Given the description of an element on the screen output the (x, y) to click on. 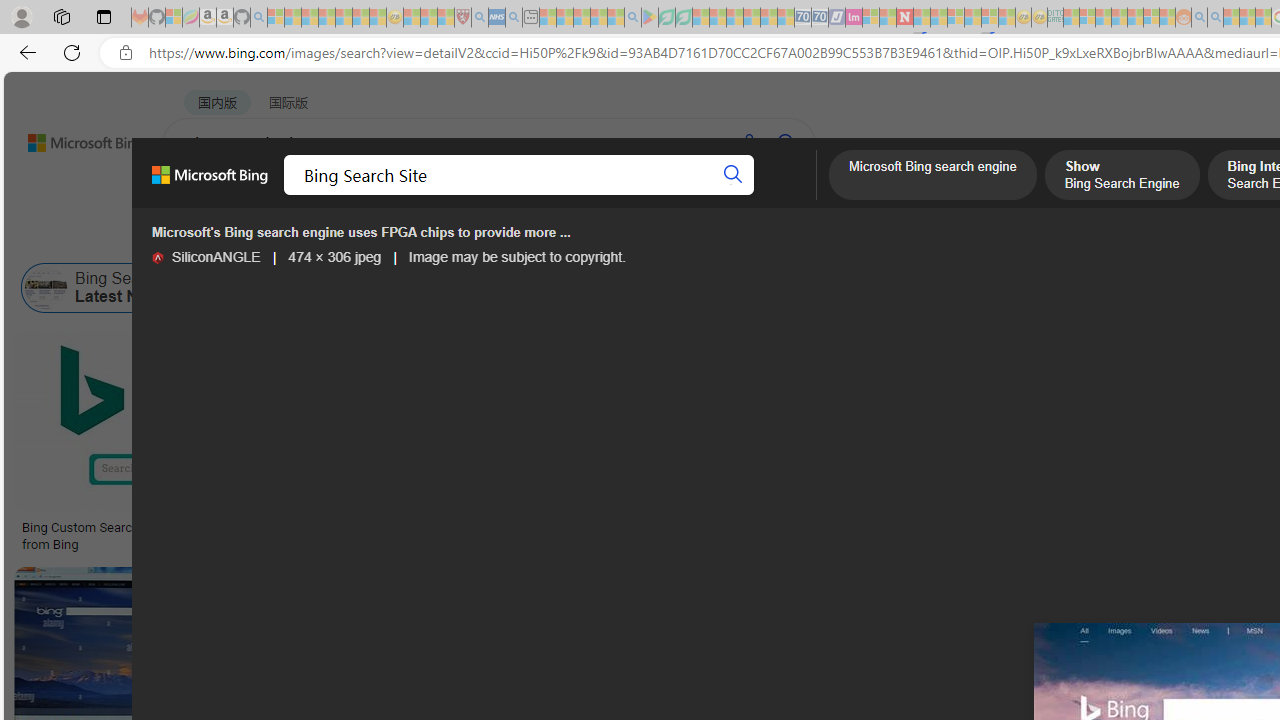
SiliconANGLE SiliconANGLE (206, 257)
20 Reasons to Search With Bing | PCMag (1093, 528)
Bing - SEOLend (492, 528)
Search using voice (748, 142)
Layout (443, 237)
Color (305, 237)
New Report Confirms 2023 Was Record Hot | Watch - Sleeping (343, 17)
Color (305, 237)
Microsoft Start - Sleeping (1231, 17)
Microsoft-Report a Concern to Bing - Sleeping (173, 17)
Bing - SEOLendSave (497, 444)
Utah sues federal government - Search - Sleeping (1215, 17)
